Given the description of an element on the screen output the (x, y) to click on. 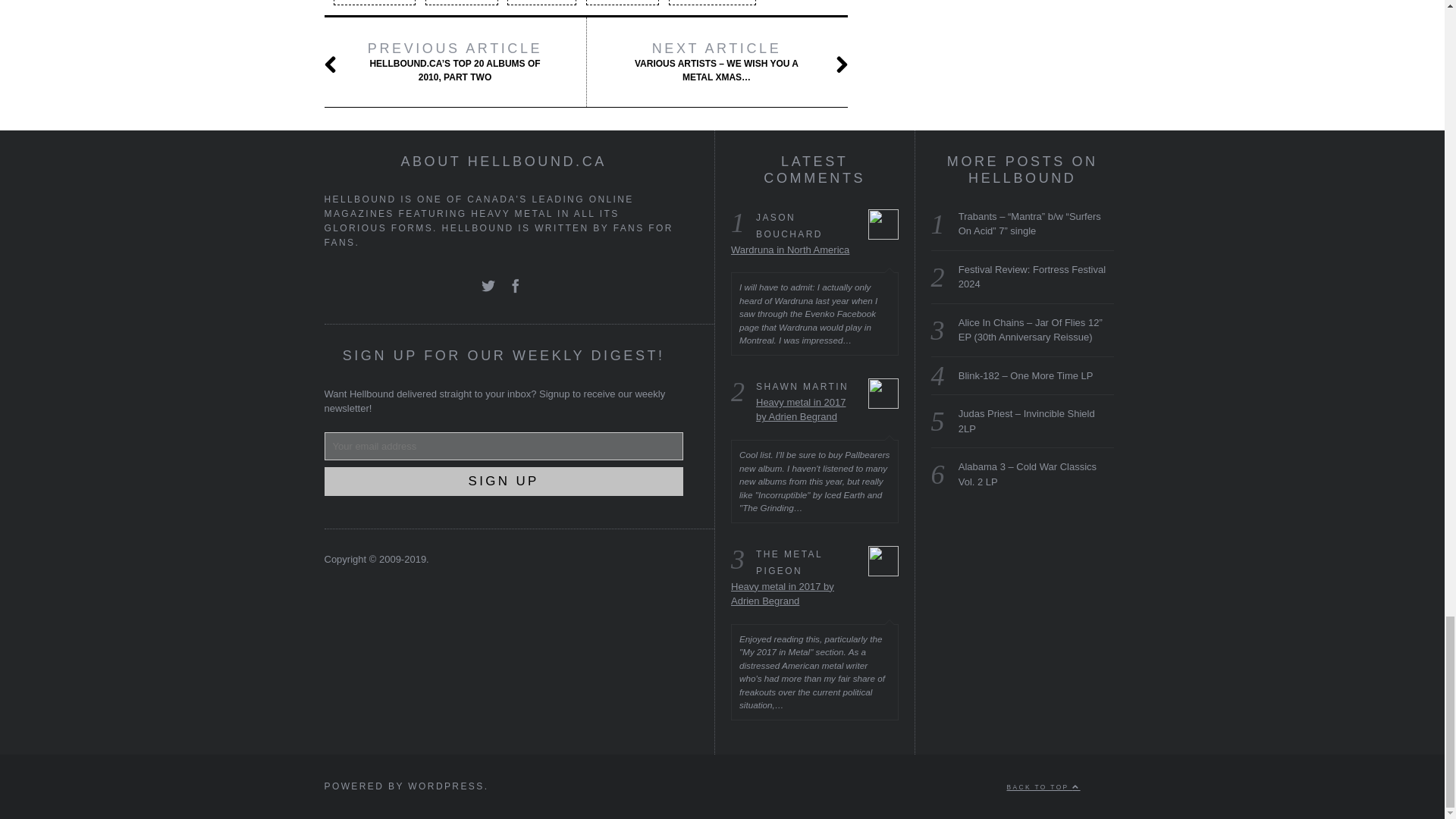
Sign up (503, 481)
